Given the description of an element on the screen output the (x, y) to click on. 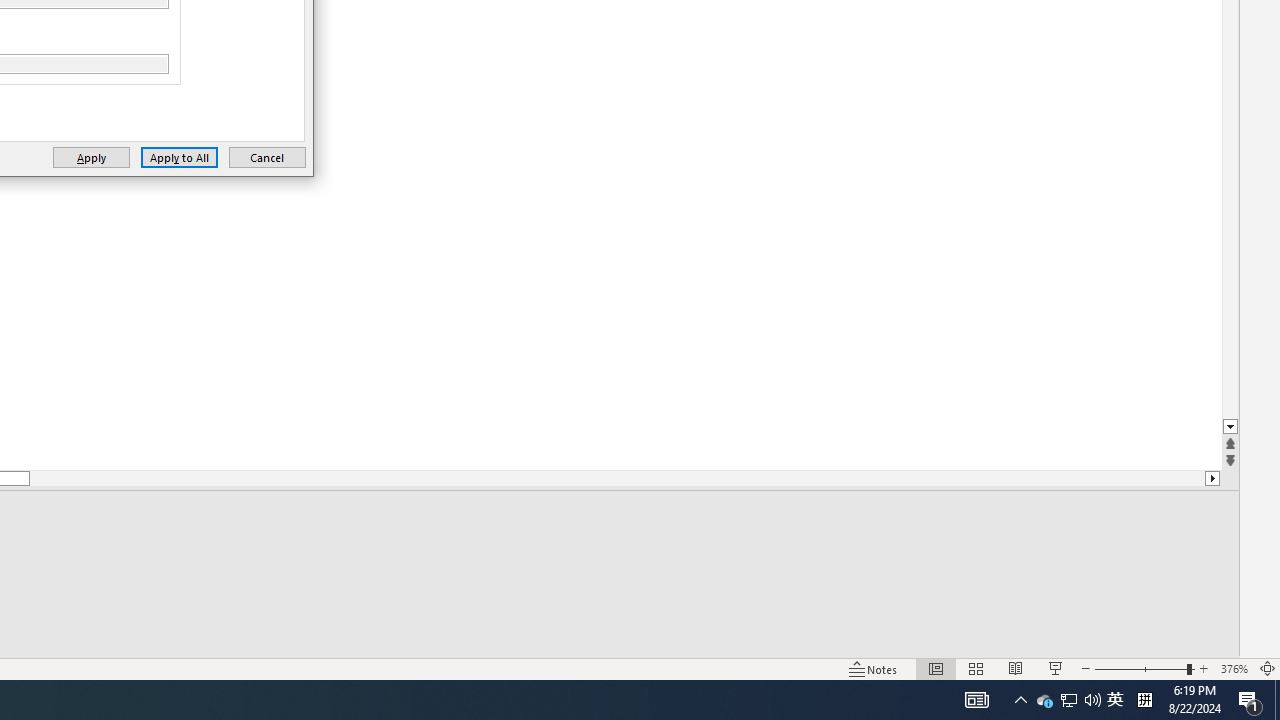
Apply (91, 157)
Apply to All (178, 157)
